Given the description of an element on the screen output the (x, y) to click on. 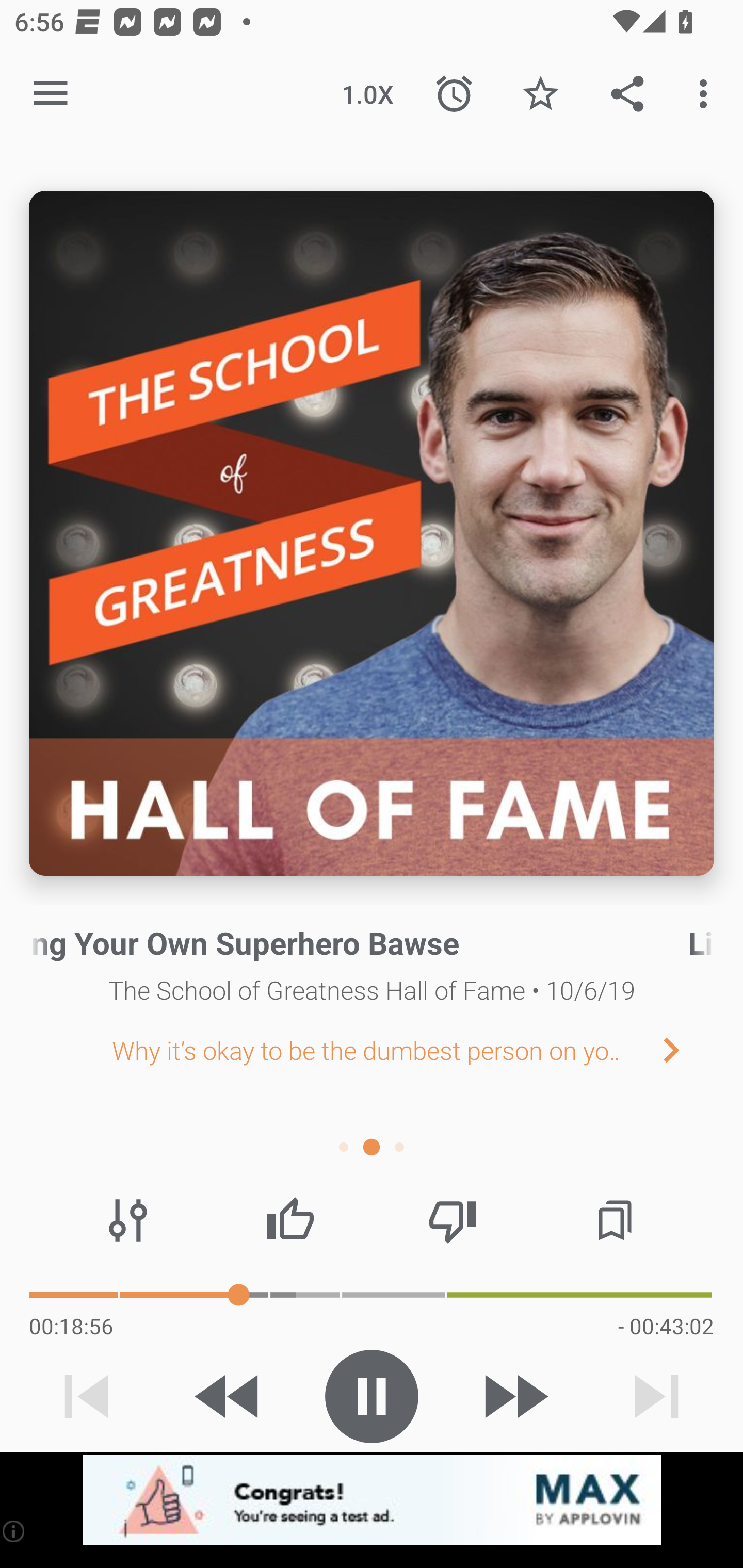
Open navigation sidebar (50, 93)
1.0X (366, 93)
Sleep Timer (453, 93)
Favorite (540, 93)
Share (626, 93)
More options (706, 93)
Episode description (371, 533)
Next Chapter (686, 1049)
Audio effects (127, 1220)
Thumbs up (290, 1220)
Thumbs down (452, 1220)
Chapters / Bookmarks (614, 1220)
- 00:43:02 (666, 1325)
Previous track (86, 1395)
Skip 15s backward (228, 1395)
Play / Pause (371, 1395)
Skip 30s forward (513, 1395)
Next track (656, 1395)
app-monetization (371, 1500)
(i) (14, 1531)
